Given the description of an element on the screen output the (x, y) to click on. 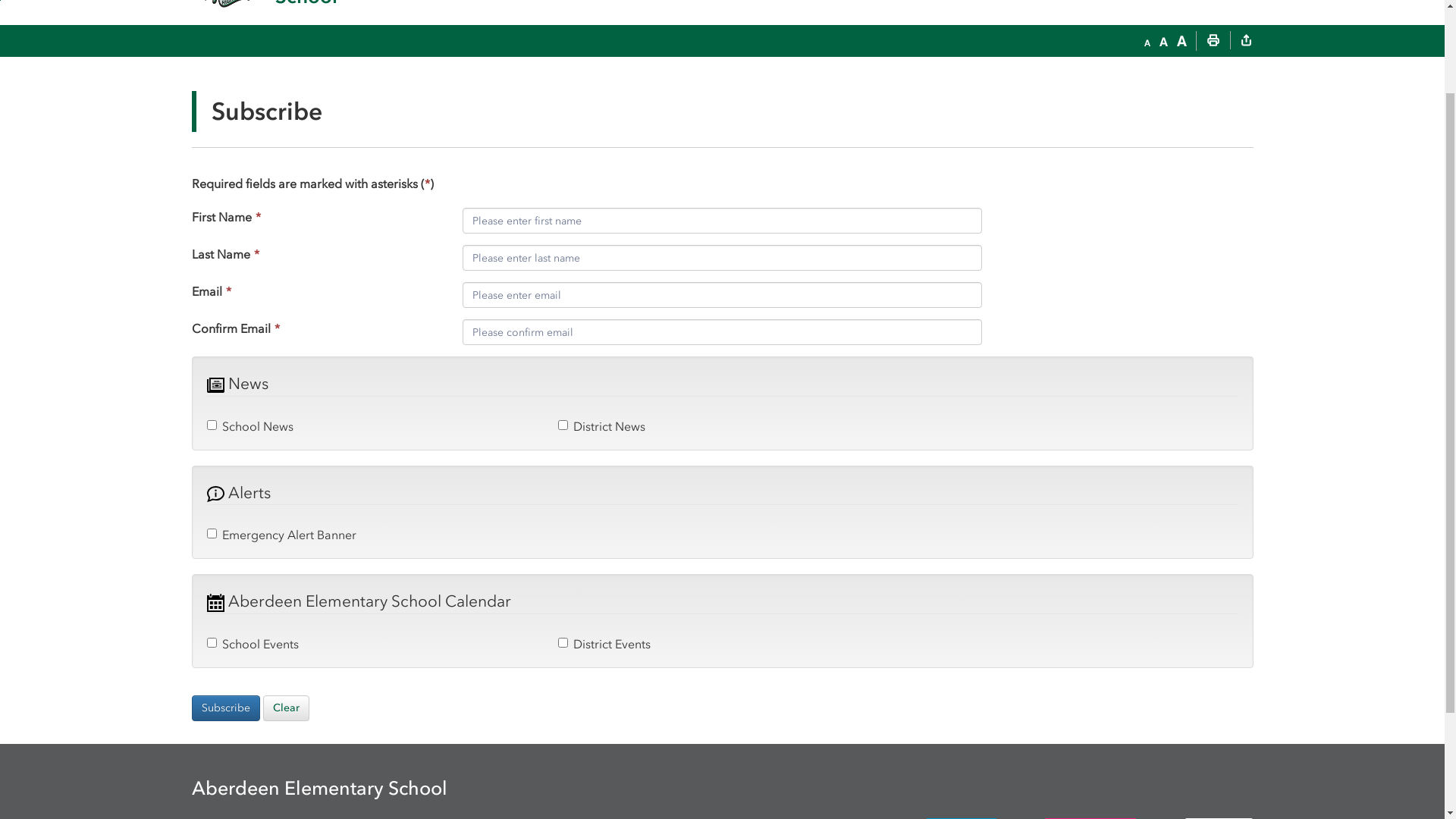
Search Element type: text (1232, 81)
School District No.73 Element type: text (257, 15)
Decrease text size Element type: hover (1146, 150)
  Element type: text (1245, 150)
MyEDBC Element type: text (1071, 15)
Skip to Content Element type: text (0, 109)
Default text size Element type: hover (1162, 150)
Increase text size Element type: hover (1181, 150)
Aberdeen Elementary
School Element type: text (369, 82)
WHAT'S HAPPENING
NEWS Element type: text (838, 82)
PARENTS & STUDENTS
SUPPORT & HELP Element type: text (1088, 82)
Home Element type: text (789, 15)
Click to return to the homepage Element type: hover (233, 82)
Feedback Element type: text (836, 15)
Print This Page Element type: hover (1212, 150)
I'D LIKE TO... Element type: text (1184, 15)
OUR SCHOOLS
PROGRAMS Element type: text (588, 82)
Aberdeen Elementary Facebook Element type: text (954, 15)
